Given the description of an element on the screen output the (x, y) to click on. 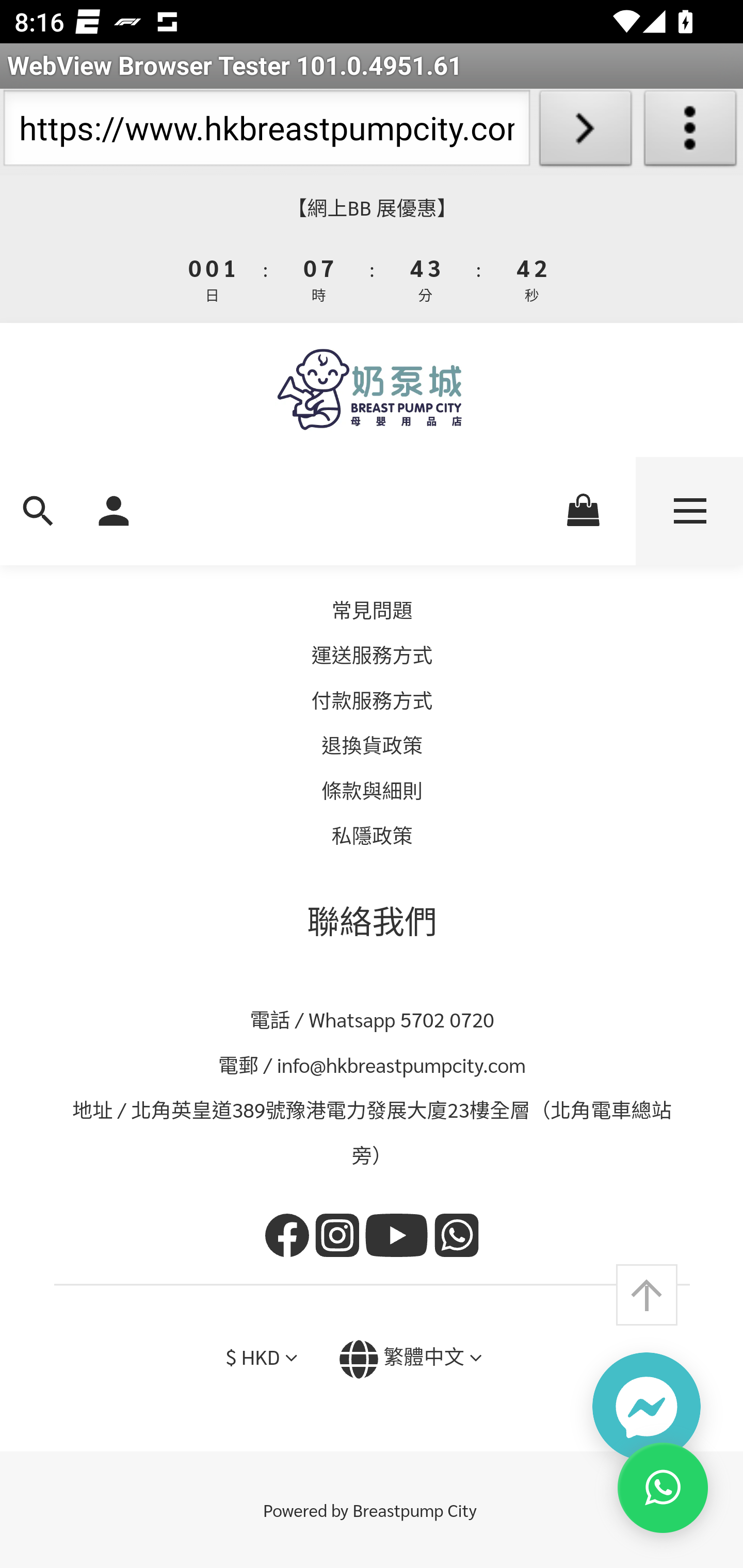
Load URL (585, 132)
About WebView (690, 132)
【網上BB 展優惠】 (371, 208)
3 2 1 0 3 2 1 0 4 3 2 1 0 日 (213, 278)
3 2 1 0 9 8 7 6 5 4 3 2 1 0 時 (318, 278)
7 6 5 4 3 2 1 0 6 5 4 3 2 1 0 分 (425, 278)
7 6 5 4 3 2 1 0 5 4 3 2 1 0 秒 (530, 278)
594x (371, 390)
sign_in (113, 508)
常見問題 (371, 609)
運送服務方式 (371, 655)
付款服務方式 (371, 700)
退換貨政策 (372, 746)
條款與細則 (372, 790)
私隱政策 (371, 836)
聯絡我們 (372, 920)
電話 / Whatsapp 5702 0720 (372, 1019)
電郵 / info@hkbreastpumpcity.com (372, 1065)
地址 / 北角英皇道389號豫港電力發展大廈23樓全層（北角電車總站旁） (372, 1133)
hk (289, 1238)
UCOya9do7lj-4xbkW39OUUfQ (399, 1238)
繁體中文  (410, 1360)
$   HKD  (261, 1358)
Powered by Breastpump City  (371, 1511)
